Given the description of an element on the screen output the (x, y) to click on. 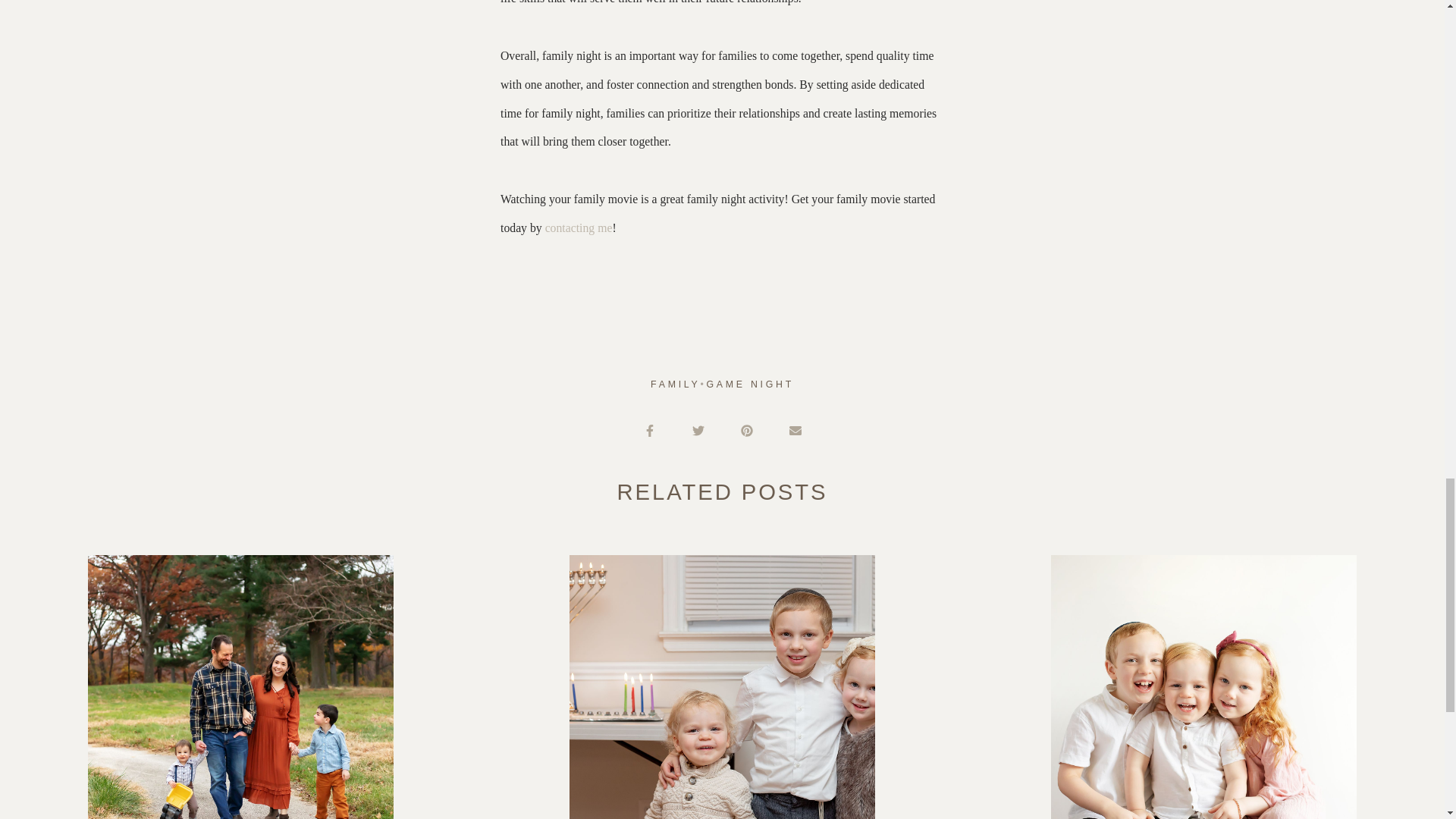
contacting me (578, 227)
GAME NIGHT (749, 384)
